Given the description of an element on the screen output the (x, y) to click on. 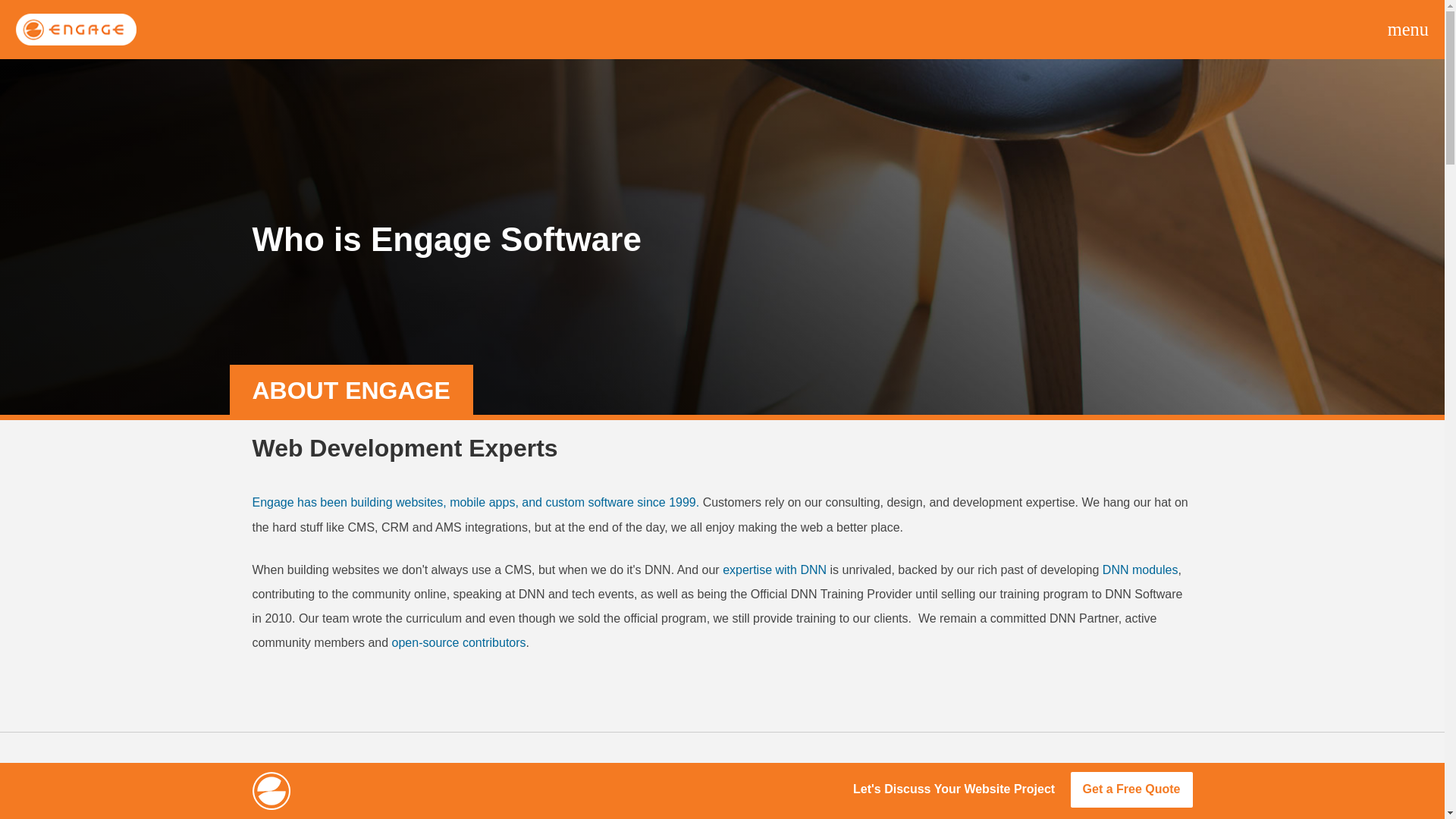
open-source contributors (458, 642)
expertise with DNN (774, 569)
DNN modules (1139, 569)
Get a Free Quote (1131, 789)
